Given the description of an element on the screen output the (x, y) to click on. 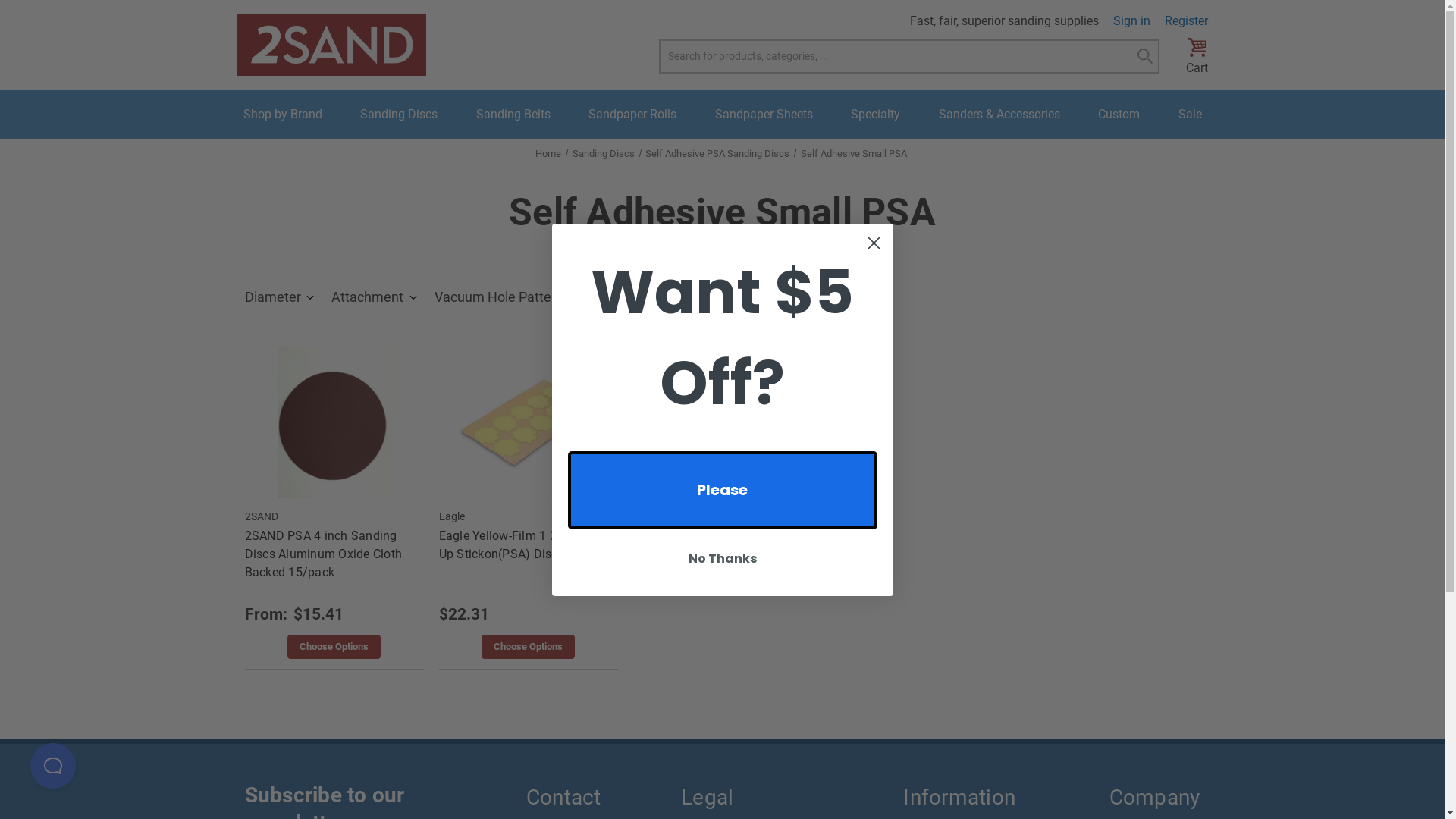
Shop by Brand Element type: text (281, 114)
Price Element type: text (736, 297)
Sandpaper Sheets Element type: text (763, 114)
Self Adhesive Small PSA Element type: text (853, 153)
Sanding Discs Element type: text (398, 114)
Choose Options Element type: text (527, 646)
Attachment Element type: text (375, 297)
Self Adhesive PSA Sanding Discs Element type: text (717, 153)
Sanding Belts Element type: text (513, 114)
Submit Element type: text (25, 9)
Register Element type: text (1186, 21)
Cart Element type: text (1197, 56)
Grit Element type: text (612, 297)
Sign in Element type: text (1131, 21)
Brand Element type: text (672, 297)
Sanding Discs Element type: text (602, 153)
Vacuum Hole Pattern Element type: text (506, 297)
Other Element type: text (799, 297)
Sanders & Accessories Element type: text (999, 114)
No Thanks Element type: text (721, 558)
Custom Element type: text (1118, 114)
Eagle Yellow-Film Touch-Up Stickon(PSA) Discs Element type: hover (527, 422)
Choose Options Element type: text (333, 646)
2Sand.com, LLC Element type: hover (331, 44)
Sandpaper Rolls Element type: text (632, 114)
Sale Element type: text (1190, 114)
Specialty Element type: text (875, 114)
Diameter Element type: text (280, 297)
Please Element type: text (721, 489)
Home Element type: text (548, 153)
